Given the description of an element on the screen output the (x, y) to click on. 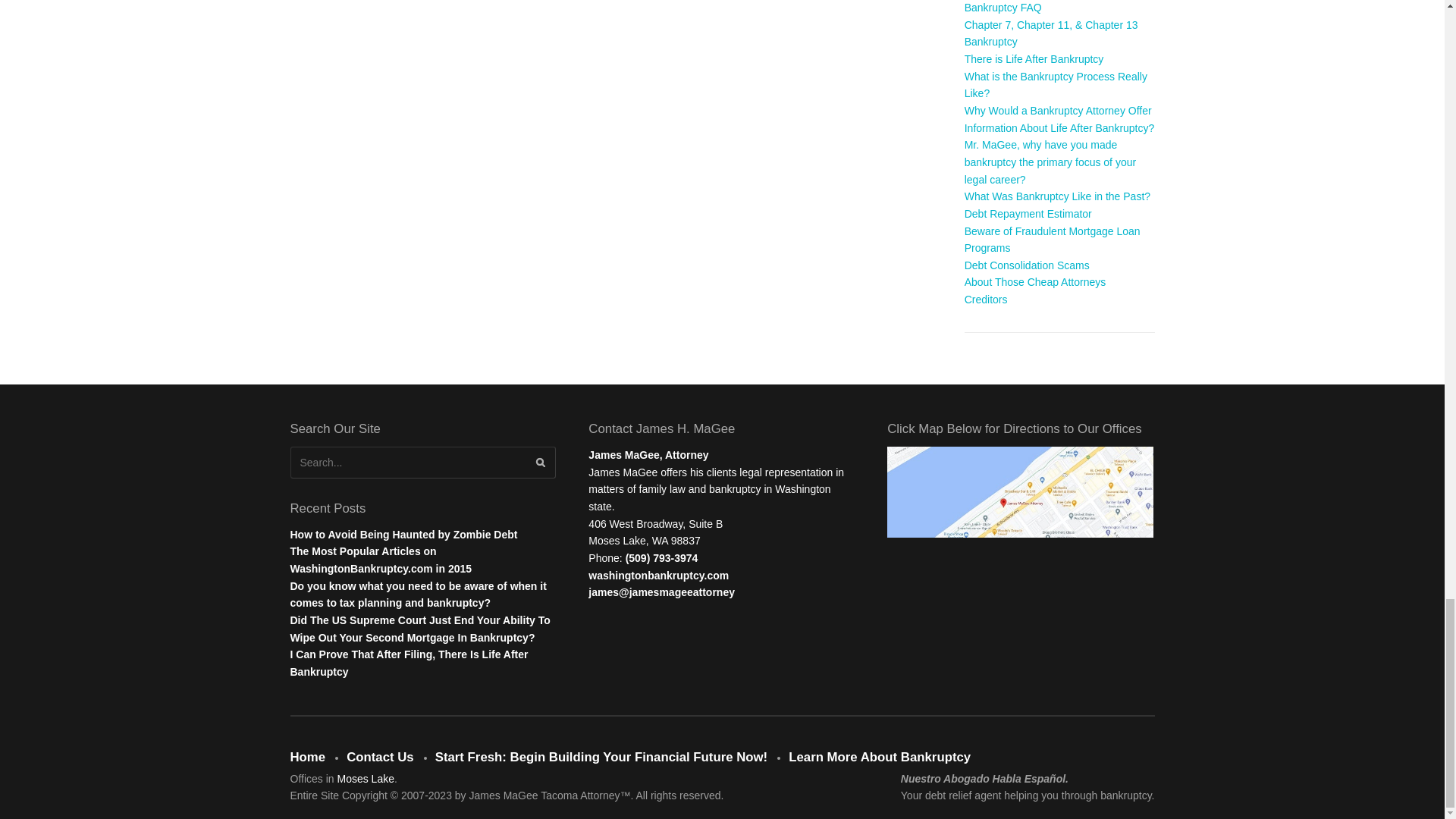
Search (540, 464)
Search (540, 464)
